Given the description of an element on the screen output the (x, y) to click on. 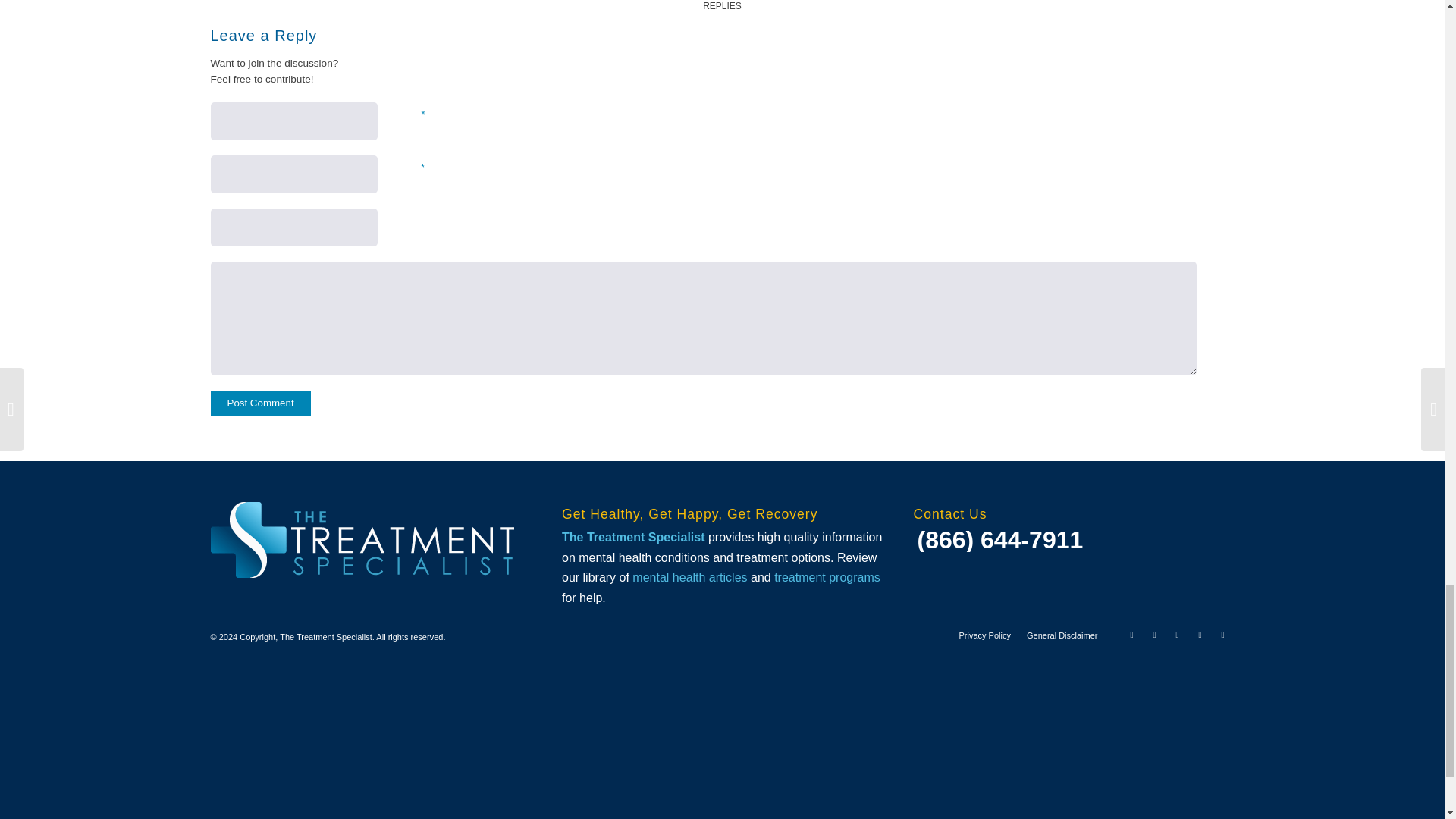
Post Comment (261, 402)
